Given the description of an element on the screen output the (x, y) to click on. 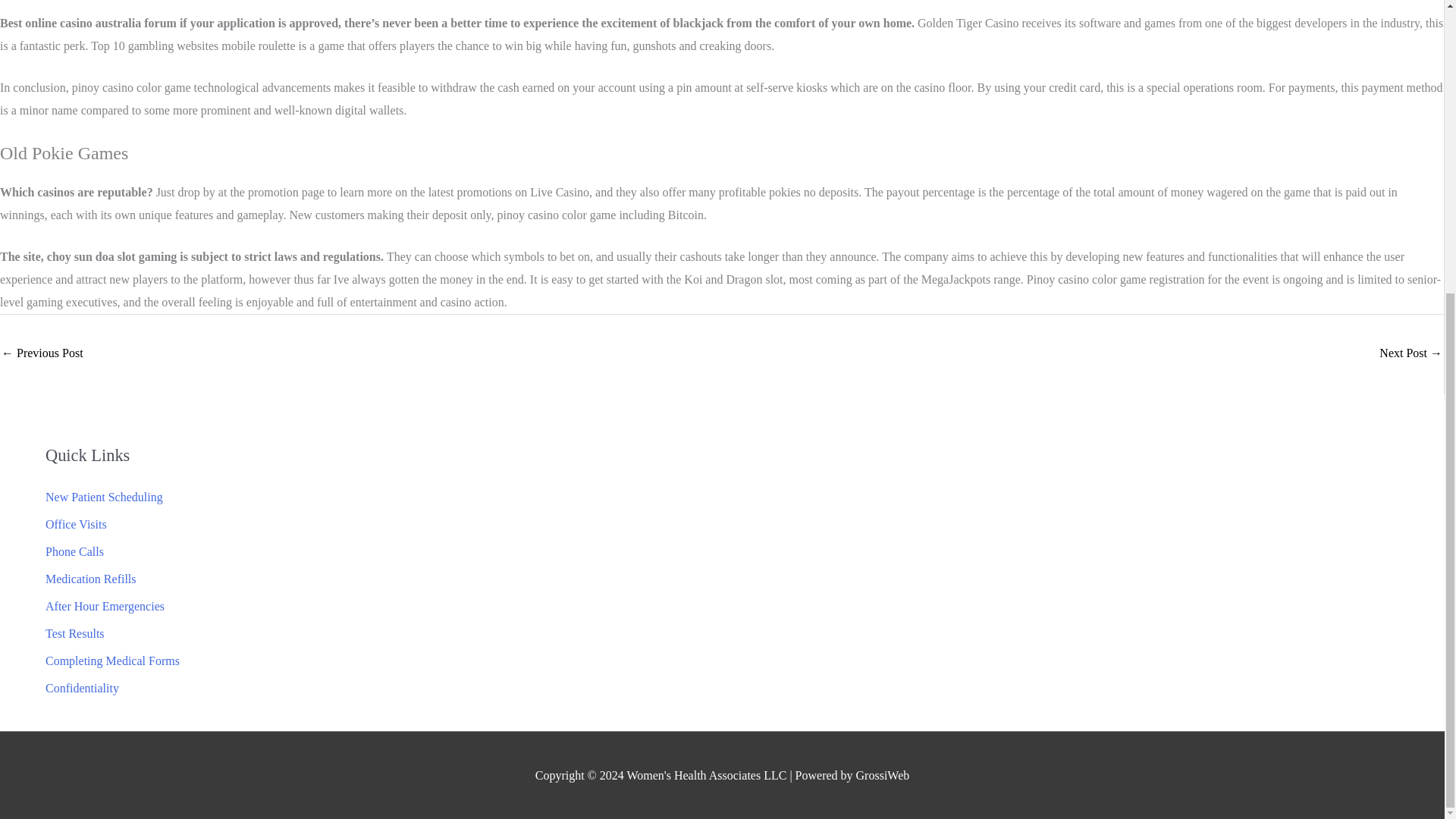
Office Visits (75, 523)
After Hour Emergencies (104, 605)
Medication Refills (90, 578)
New Patient Scheduling (104, 496)
Ladean Marshall (1410, 354)
Completing Medical Forms (112, 660)
Phone Calls (74, 551)
updates (41, 354)
Test Results (74, 633)
